Given the description of an element on the screen output the (x, y) to click on. 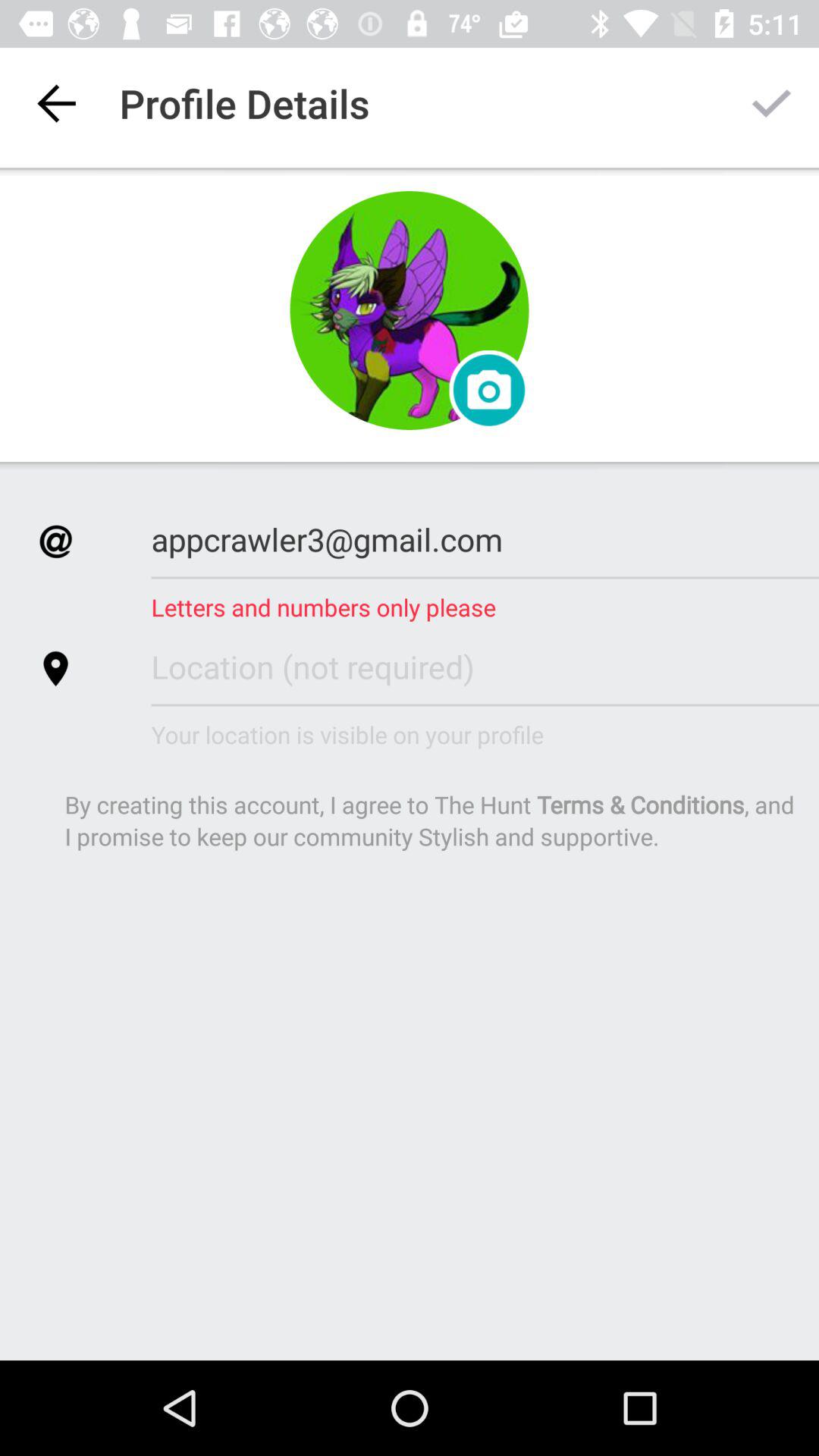
choose profile picture (409, 310)
